Given the description of an element on the screen output the (x, y) to click on. 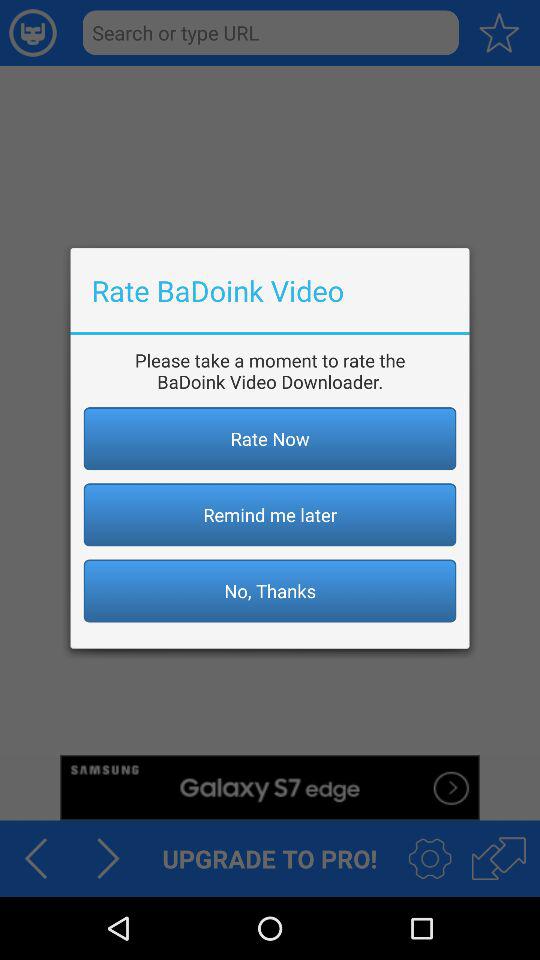
launch the item below the please take a app (269, 438)
